Given the description of an element on the screen output the (x, y) to click on. 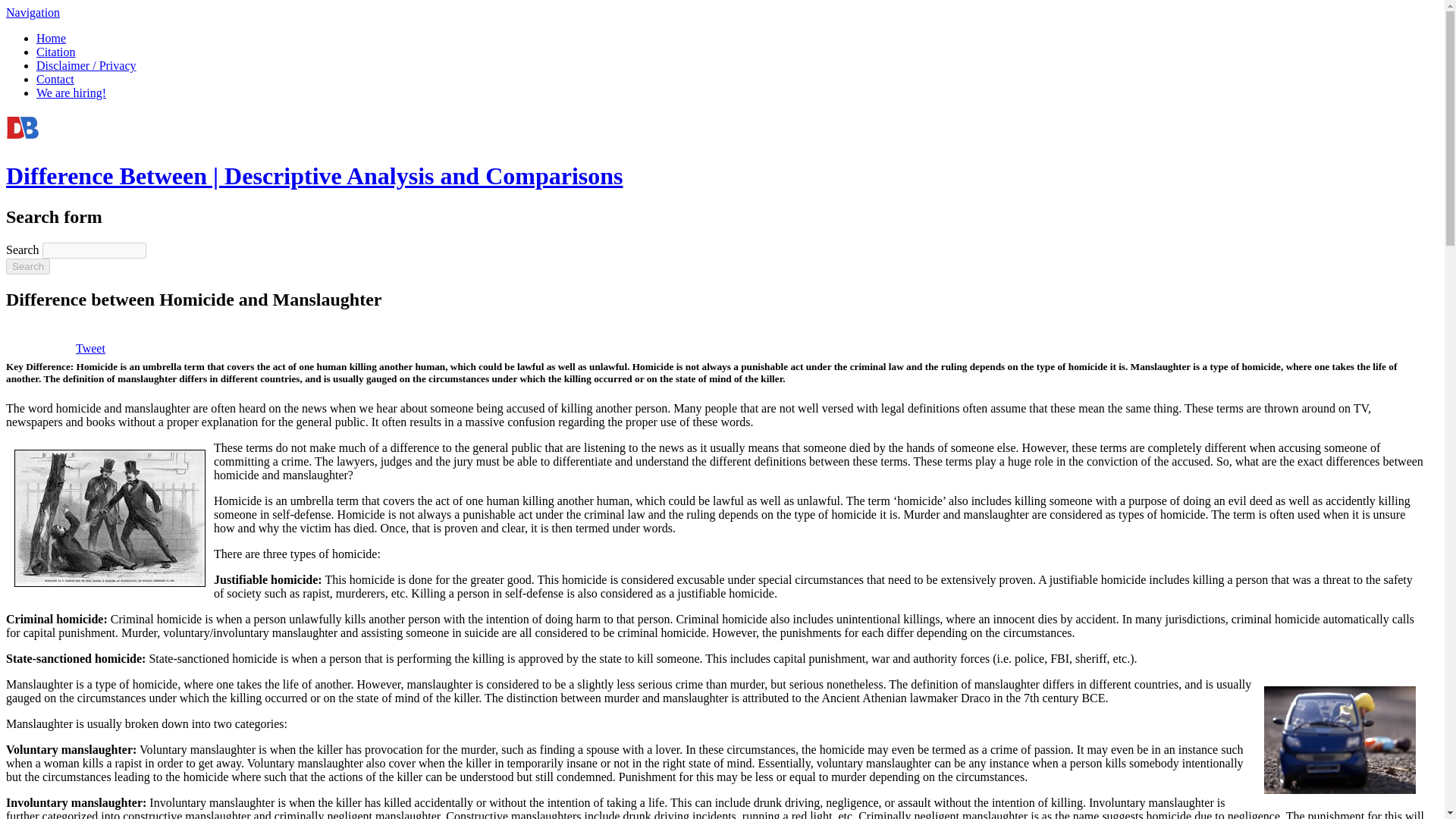
Search (27, 266)
Home (22, 138)
Citation (55, 51)
Search (27, 266)
Home (50, 38)
Navigation (32, 11)
Tweet (89, 348)
Contact (55, 78)
Home (314, 175)
We are hiring! (71, 92)
Enter the terms you wish to search for. (94, 250)
